Given the description of an element on the screen output the (x, y) to click on. 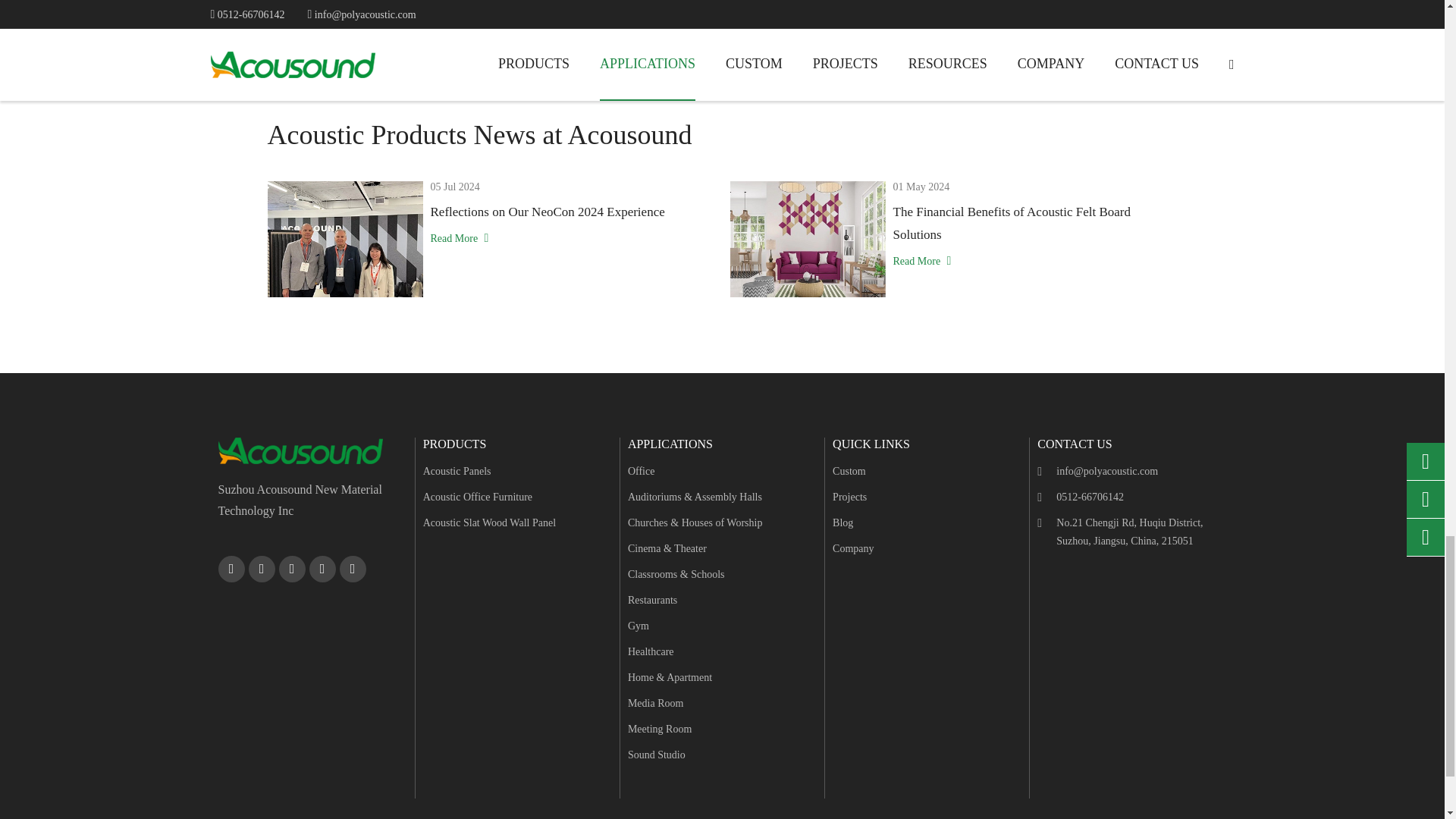
The Financial Benefits of Acoustic Felt Board Solutions (807, 238)
Suzhou Acousound New Material Technology Inc. (300, 450)
Reflections on Our NeoCon 2024 Experience (344, 238)
